Given the description of an element on the screen output the (x, y) to click on. 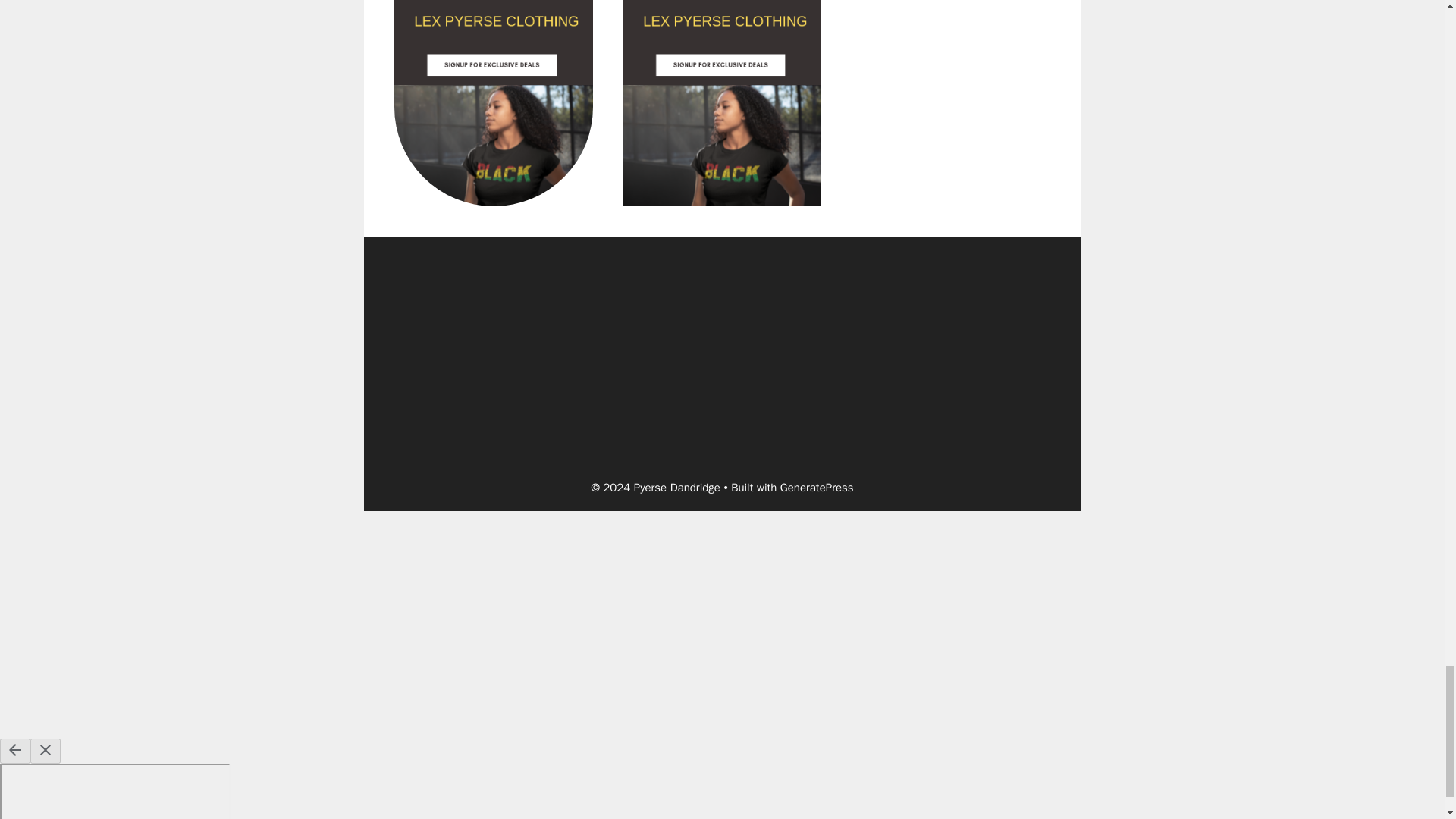
GeneratePress (816, 487)
